Given the description of an element on the screen output the (x, y) to click on. 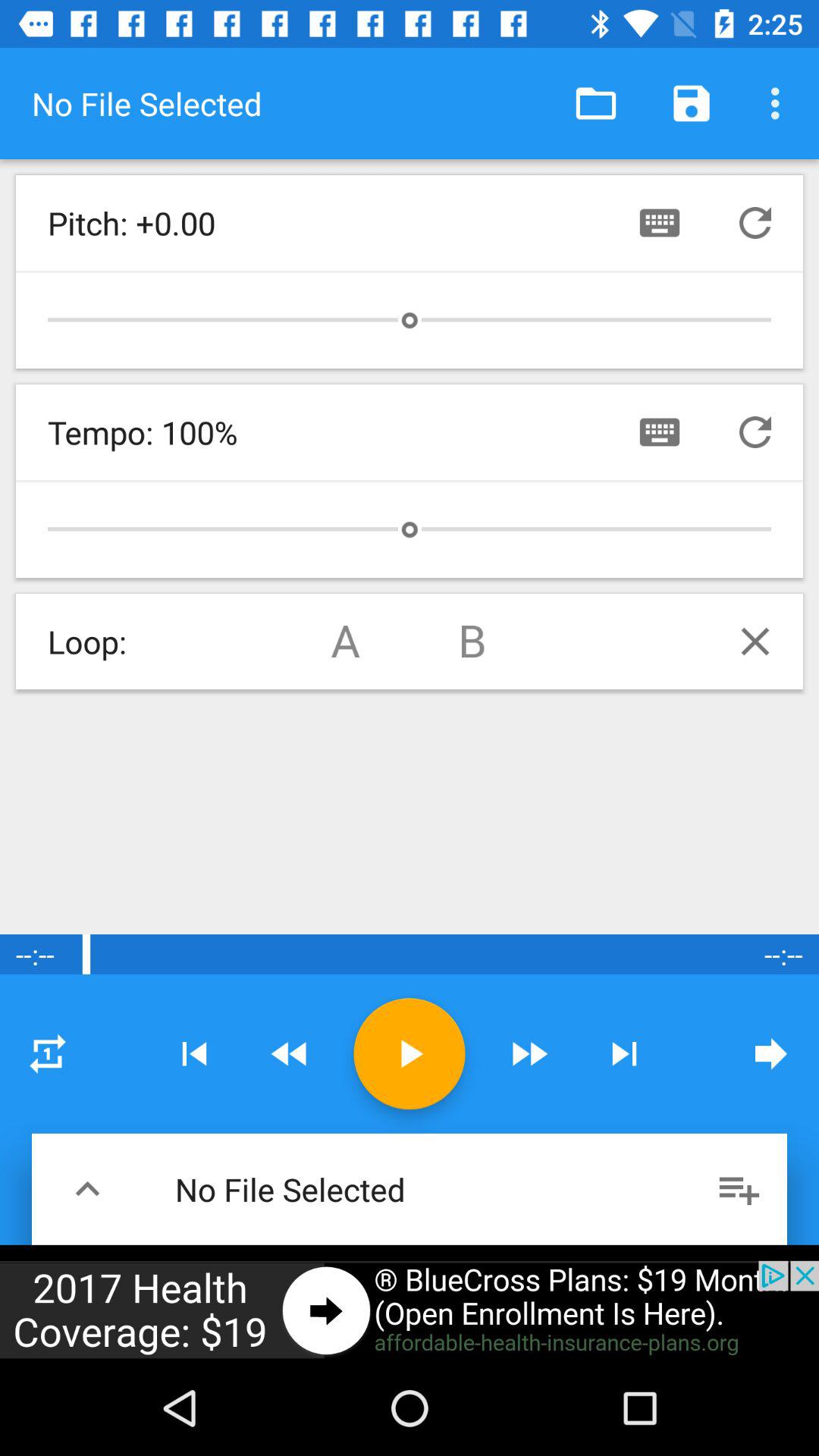
previous (194, 1053)
